Given the description of an element on the screen output the (x, y) to click on. 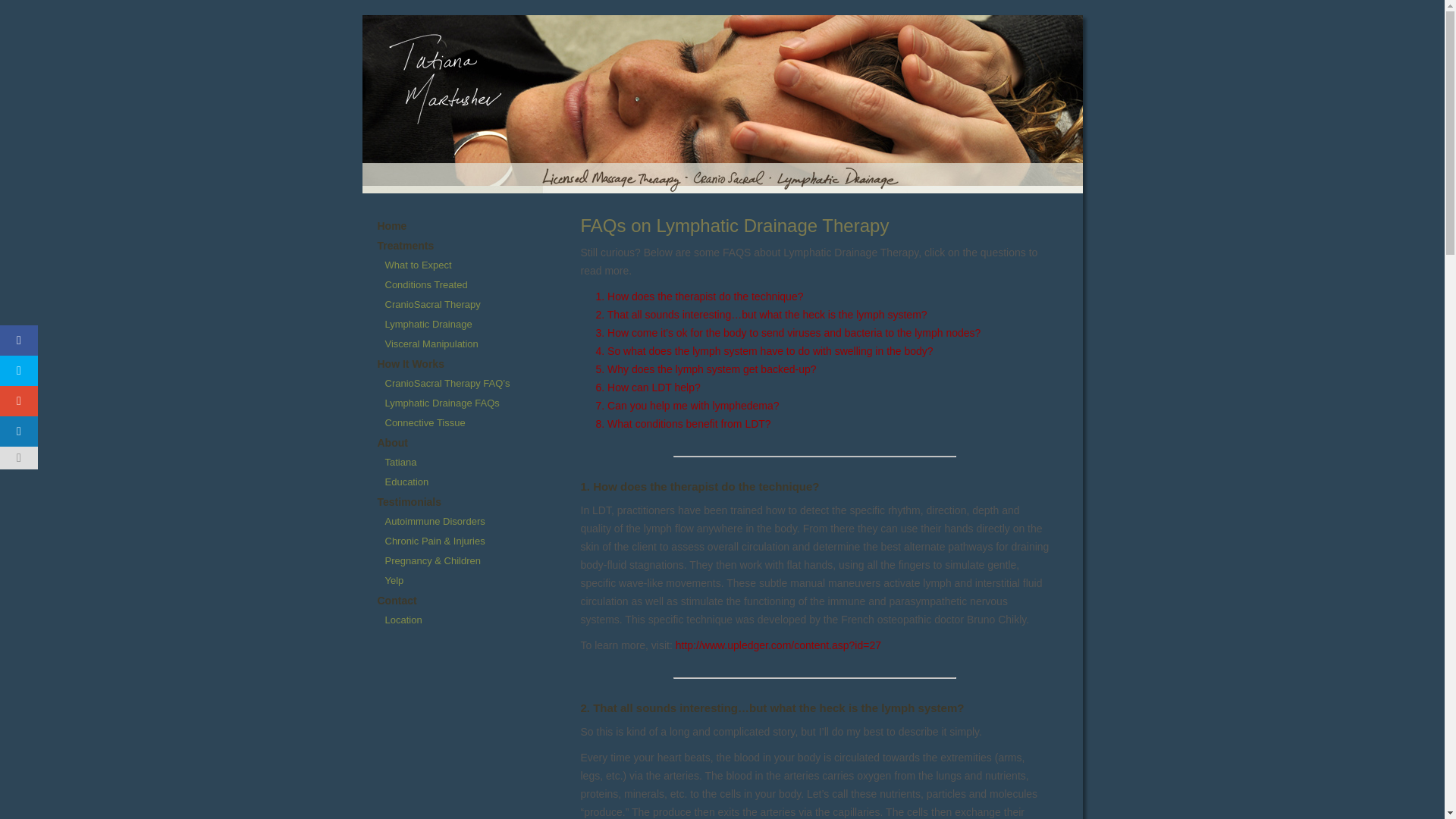
6. How can LDT help? (647, 387)
8. What conditions benefit from LDT? (683, 423)
7. Can you help me with lymphedema? (686, 405)
5. Why does the lymph system get backed-up? (705, 369)
1. How does the therapist do the technique? (699, 296)
